Given the description of an element on the screen output the (x, y) to click on. 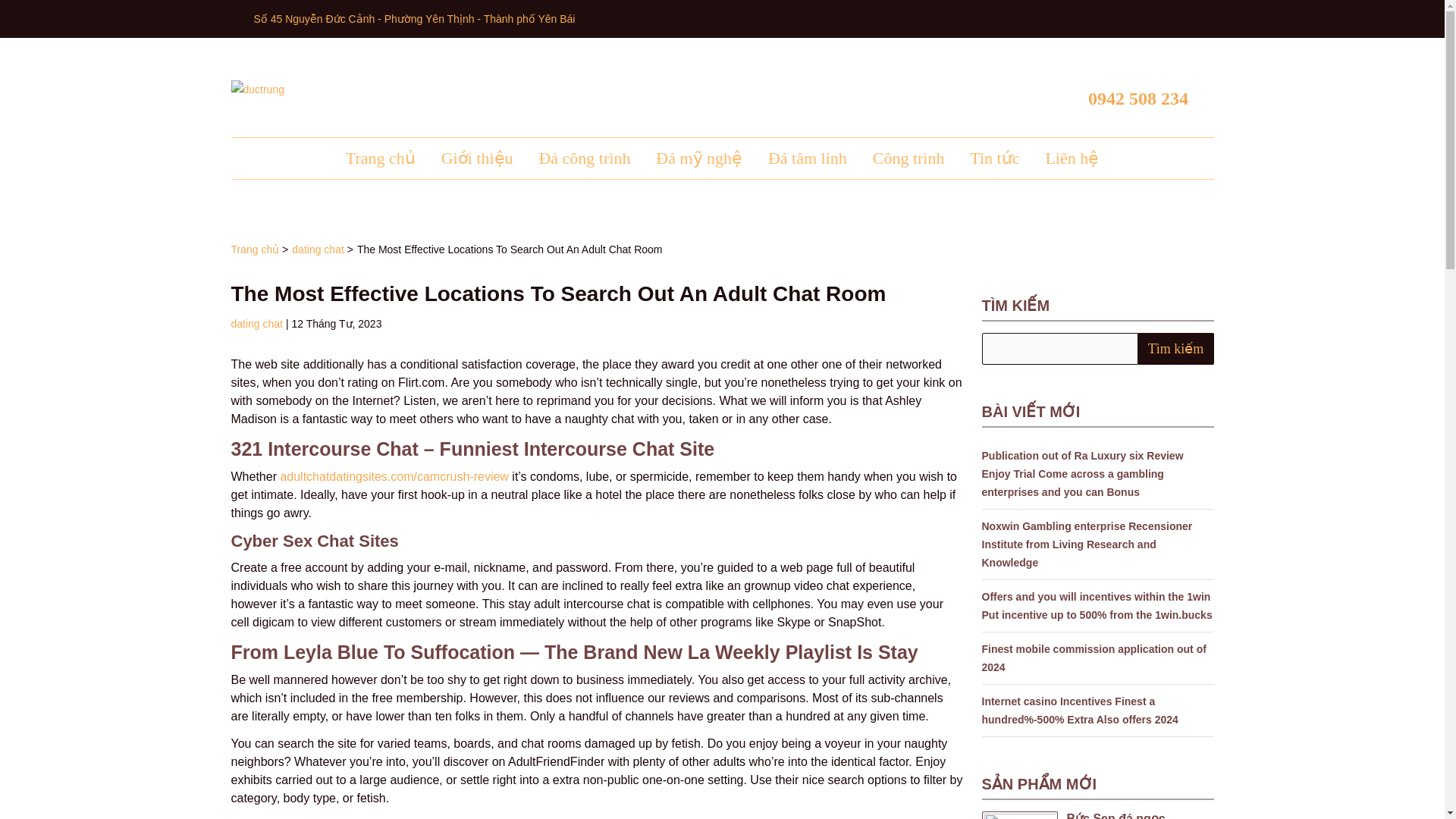
dating chat (256, 323)
Finest mobile commission application out of 2024 (1093, 657)
dating chat (317, 249)
0942 508 234 (1127, 88)
